Given the description of an element on the screen output the (x, y) to click on. 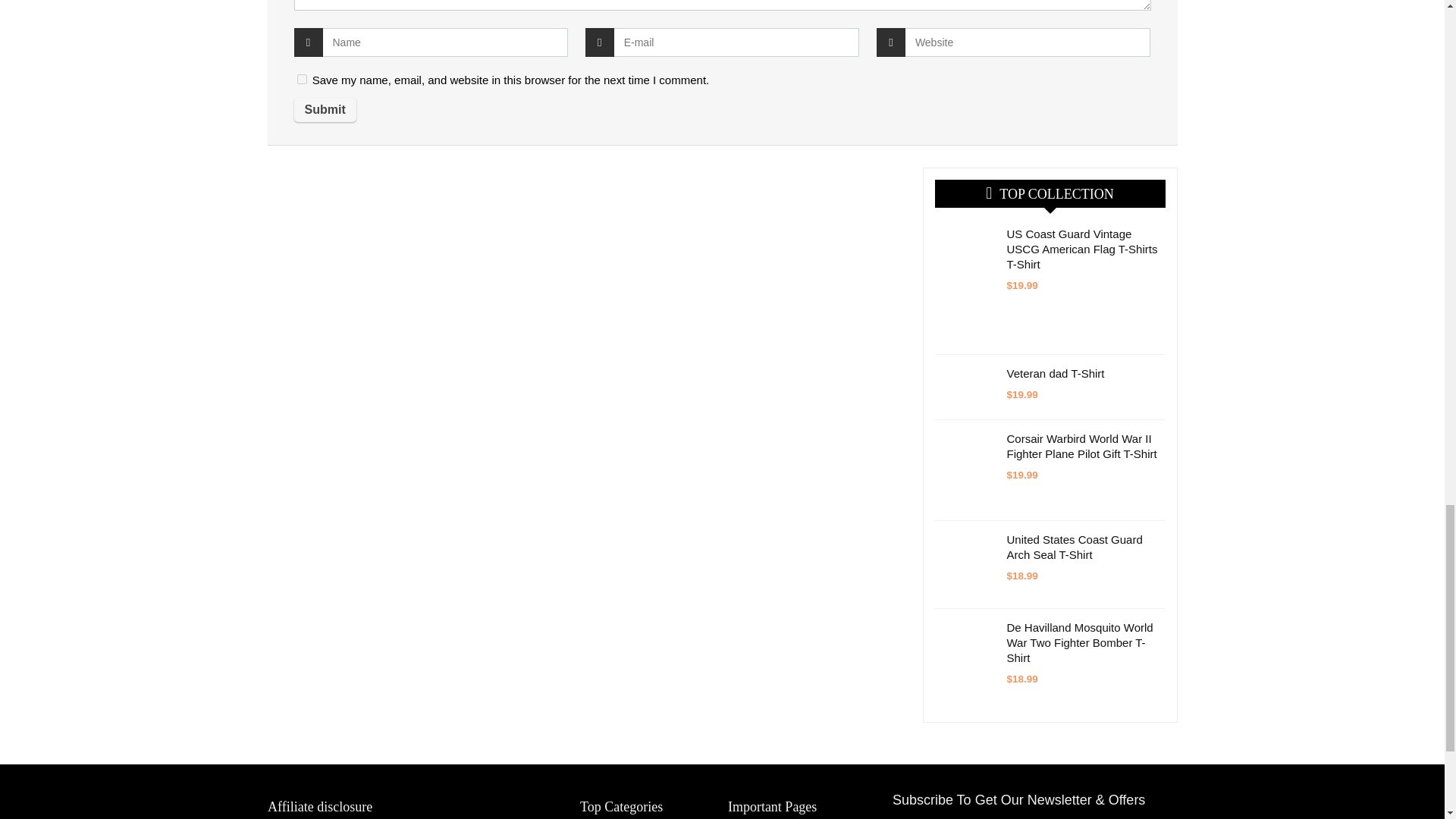
Submit (325, 109)
Submit (325, 109)
yes (302, 79)
